Given the description of an element on the screen output the (x, y) to click on. 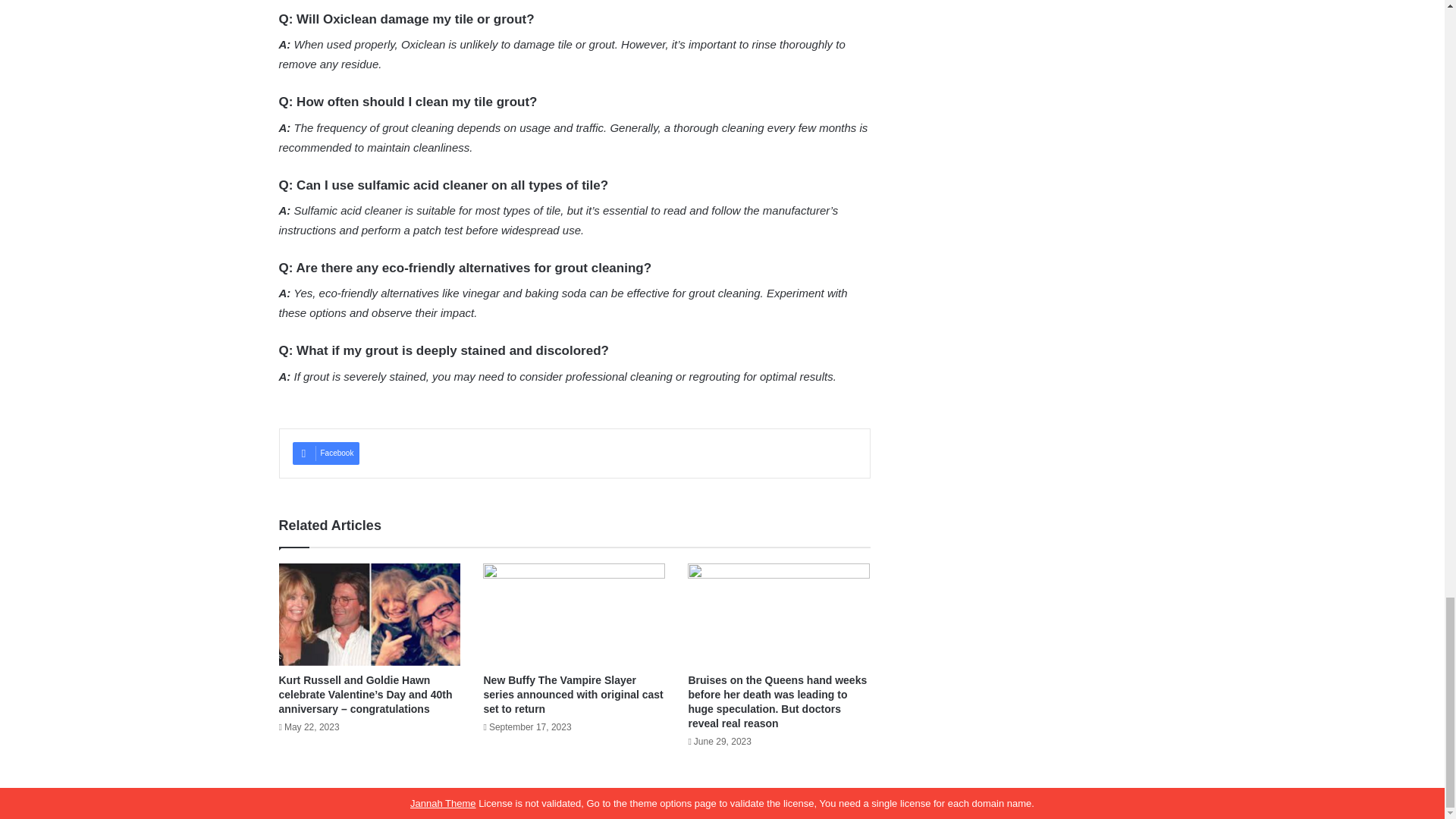
Facebook (325, 453)
Facebook (325, 453)
